Given the description of an element on the screen output the (x, y) to click on. 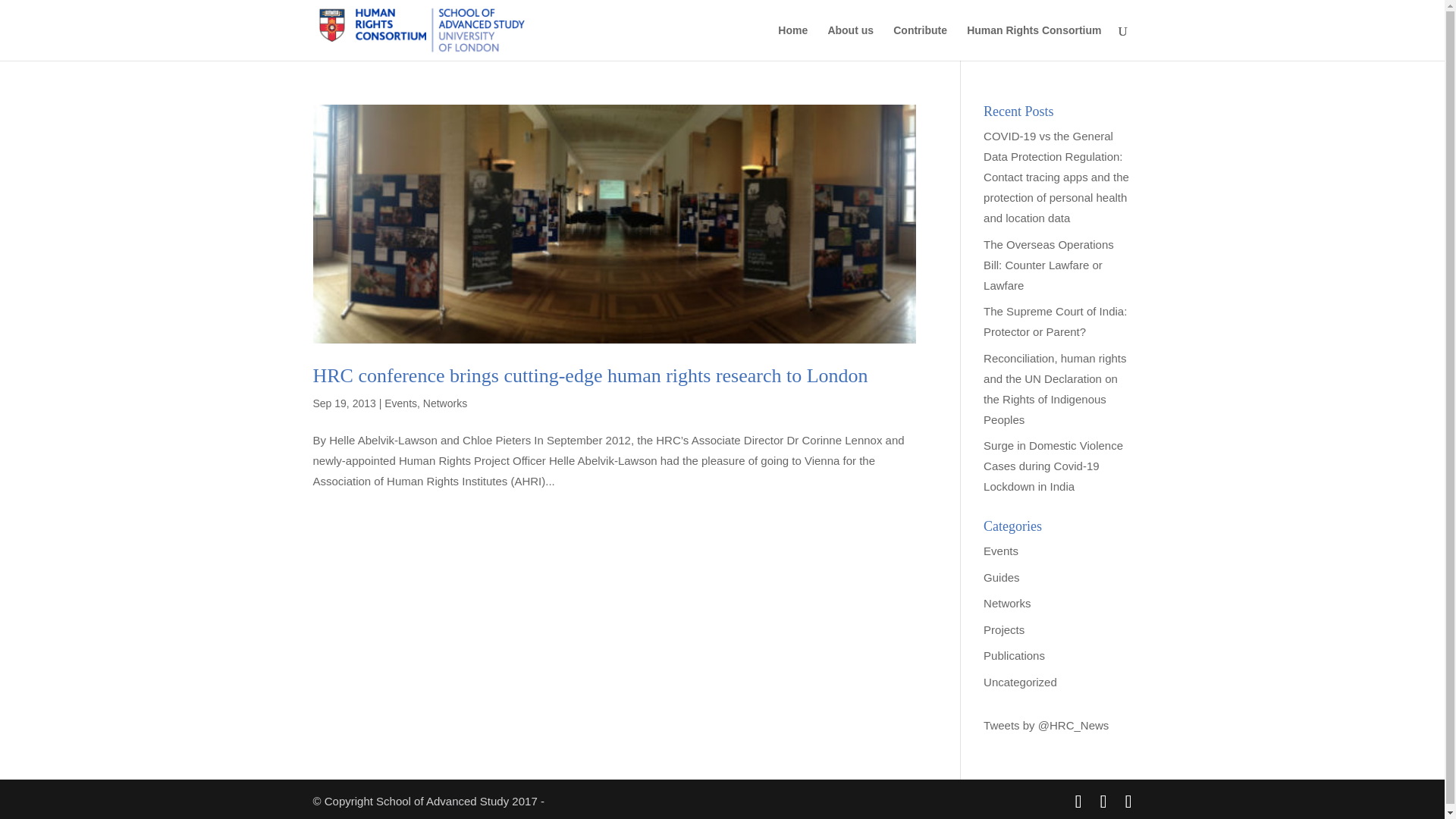
Networks (1007, 603)
The Overseas Operations Bill: Counter Lawfare or Lawfare (1048, 264)
Networks (445, 403)
Projects (1004, 629)
The Supreme Court of India: Protector or Parent? (1055, 321)
Uncategorized (1020, 680)
Publications (1014, 655)
Human Rights Consortium (1033, 42)
Events (400, 403)
Events (1000, 550)
Guides (1002, 576)
About us (850, 42)
